Given the description of an element on the screen output the (x, y) to click on. 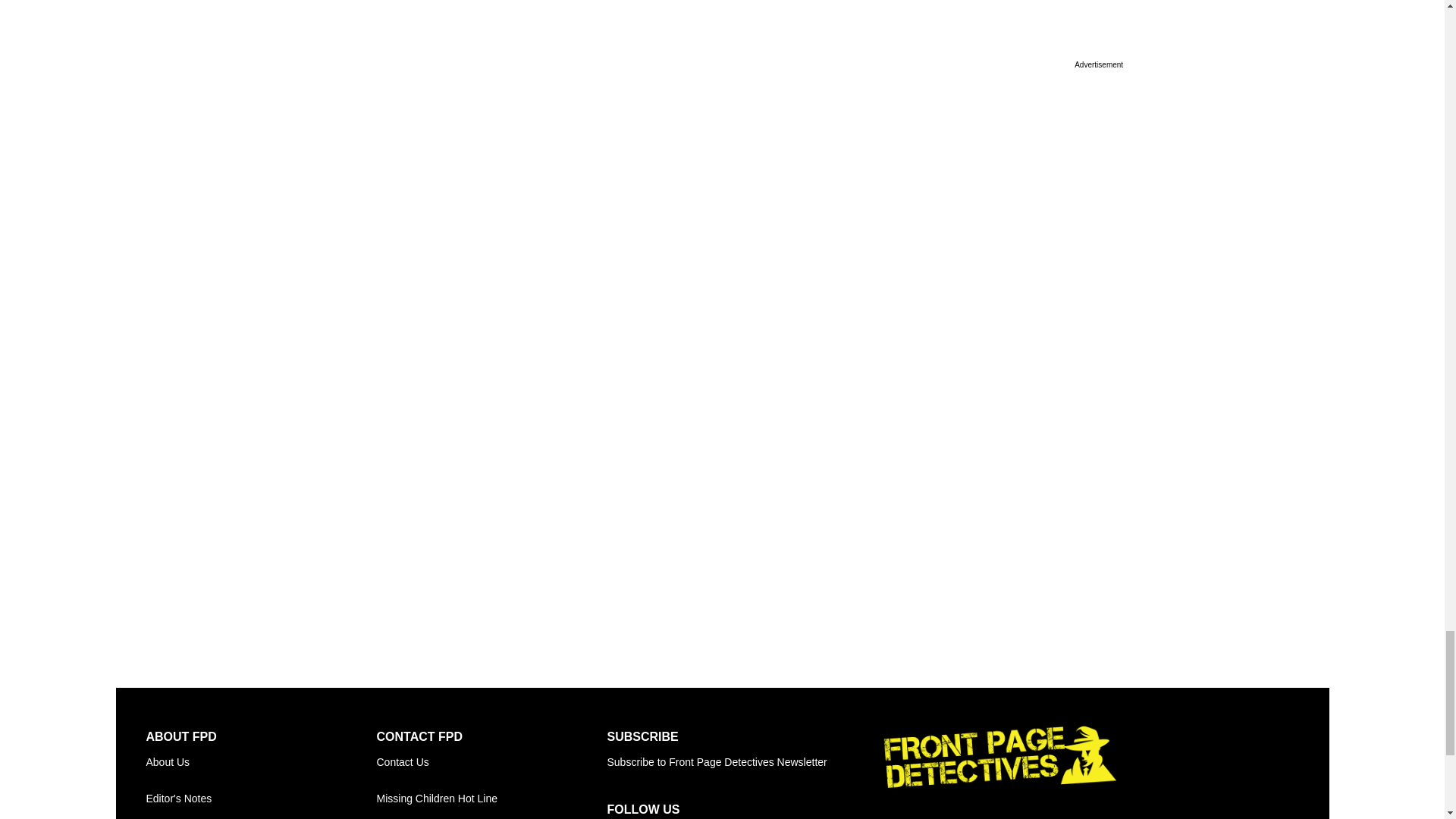
Missing Children Hot Line (491, 798)
Contact Us (491, 761)
About Us (260, 761)
Editor's Notes (260, 798)
About Front Page Detectives (260, 761)
